Given the description of an element on the screen output the (x, y) to click on. 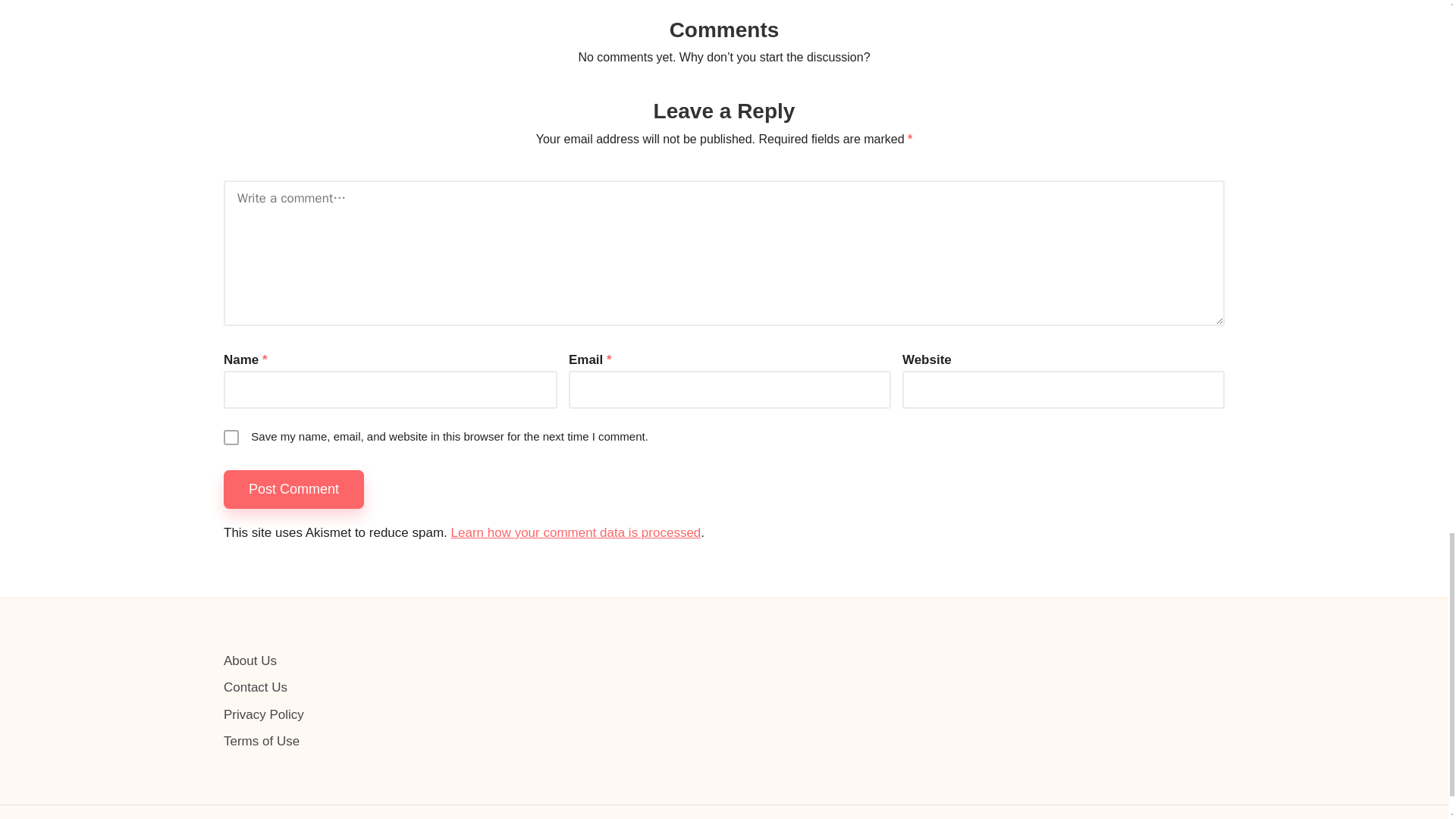
Post Comment (294, 489)
yes (231, 437)
Contact Us (255, 687)
Terms of Use (261, 740)
Post Comment (294, 489)
Learn how your comment data is processed (576, 532)
Privacy Policy (264, 714)
About Us (250, 660)
